Given the description of an element on the screen output the (x, y) to click on. 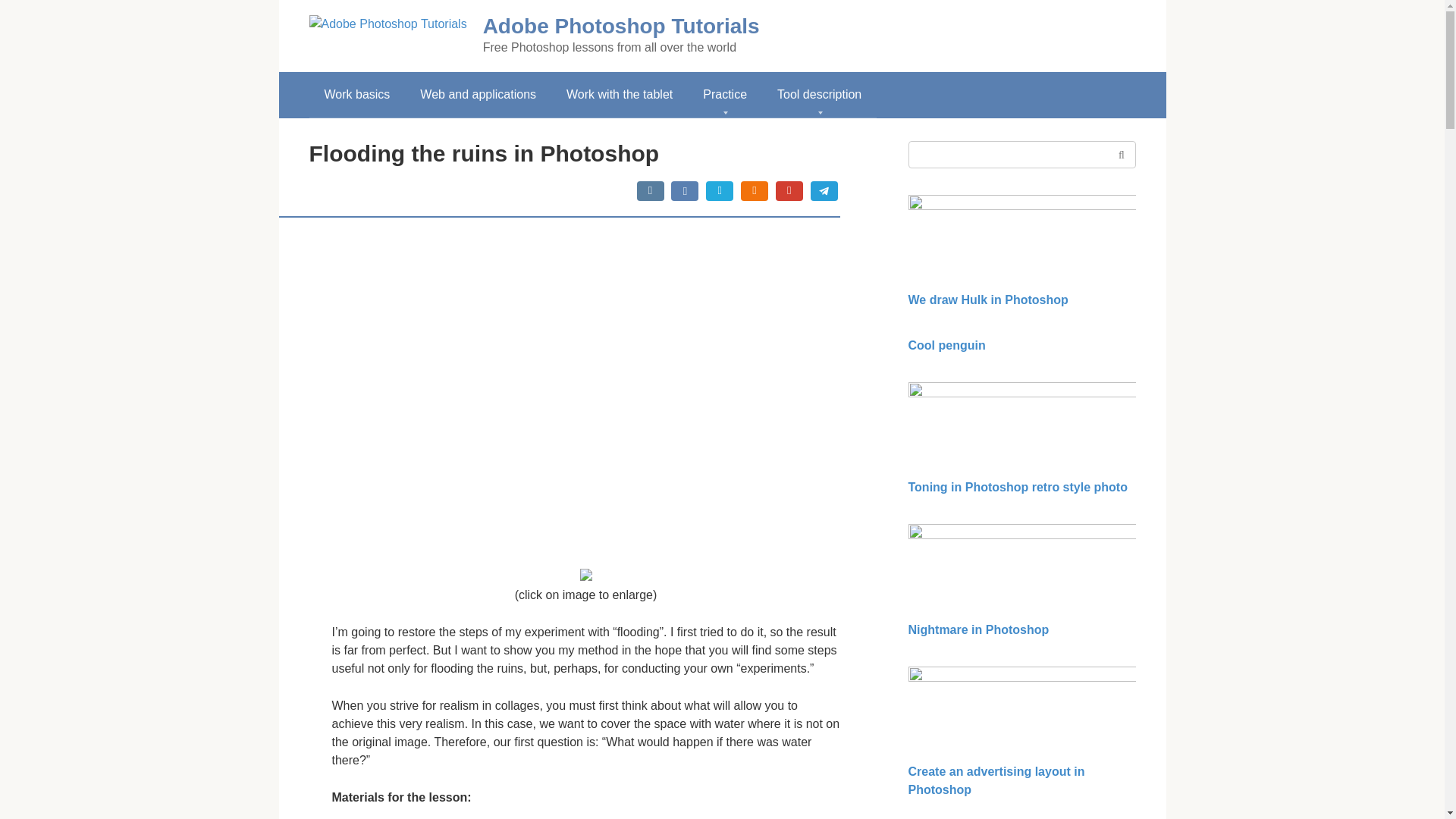
Nightmare in Photoshop (978, 629)
Cool penguin (946, 345)
Work with the tablet (619, 94)
Web and applications (477, 94)
Tool description (818, 94)
Adobe Photoshop Tutorials (621, 25)
Create an advertising layout in Photoshop (996, 780)
Toning in Photoshop retro style photo (1017, 486)
Work basics (357, 94)
Practice (724, 94)
We draw Hulk in Photoshop (988, 299)
